Given the description of an element on the screen output the (x, y) to click on. 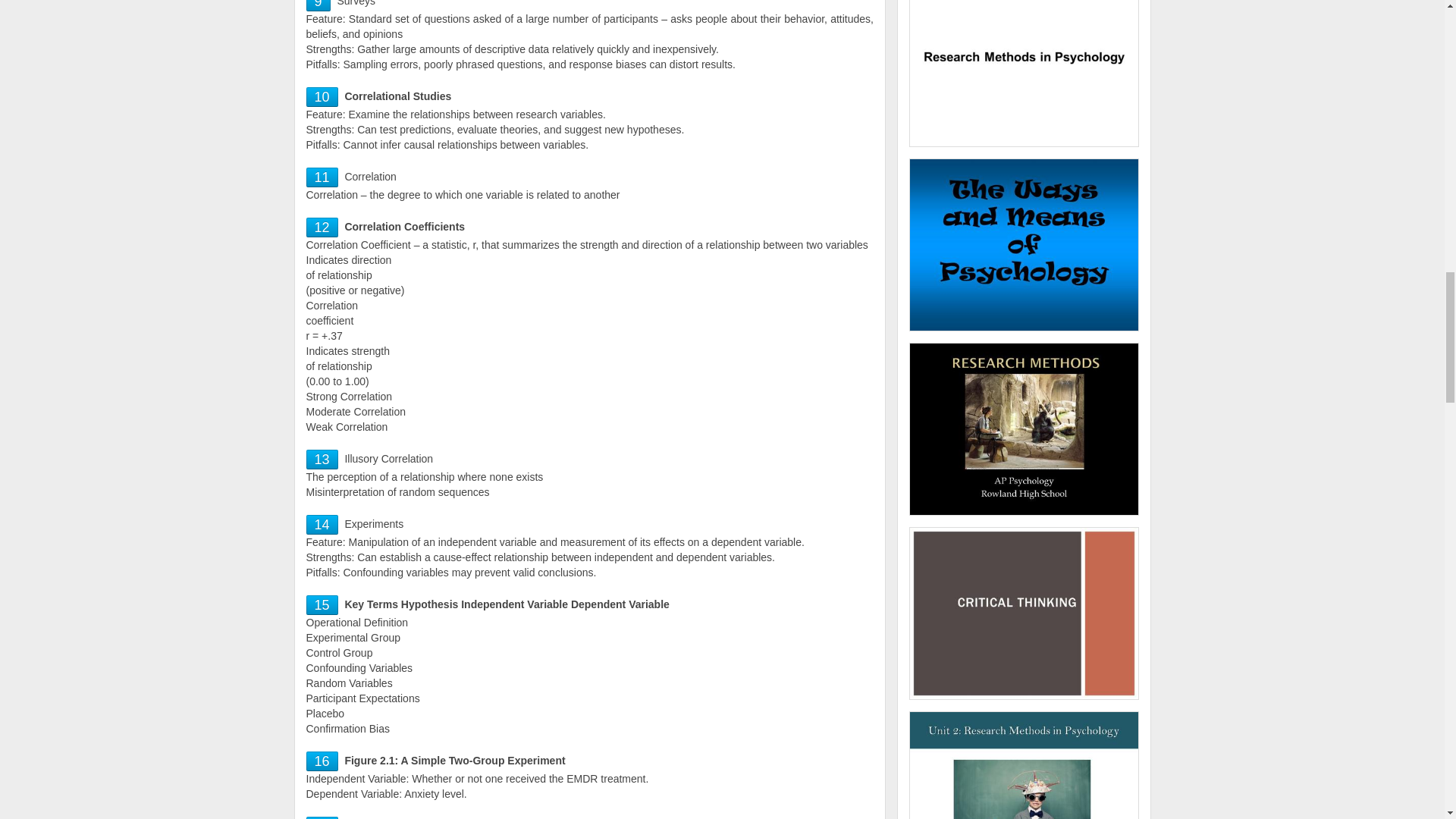
Surveys (317, 4)
Correlational Studies (321, 96)
Correlation Coefficients (321, 227)
